Given the description of an element on the screen output the (x, y) to click on. 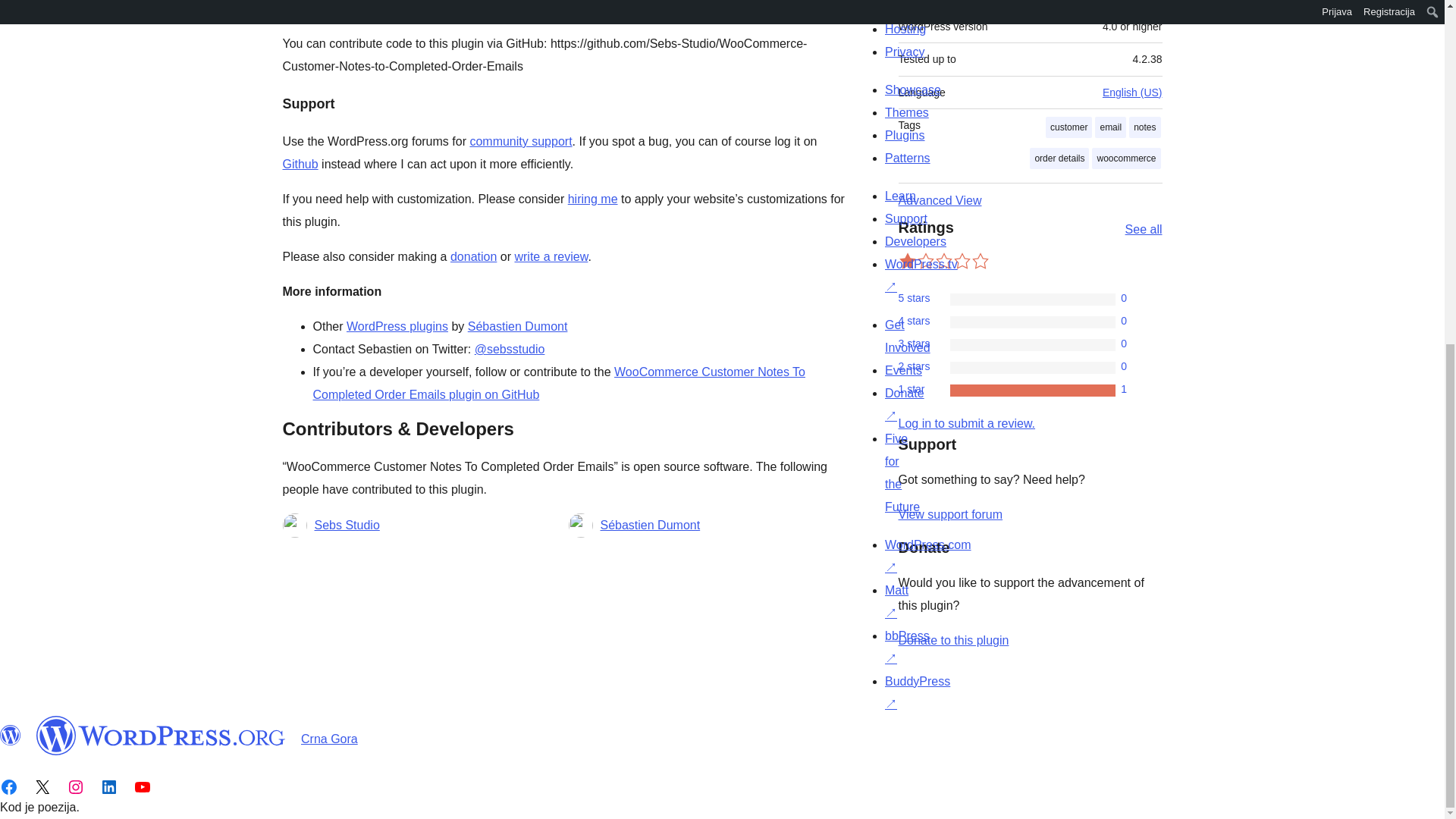
WordPress.org (10, 735)
WordPress plugins (397, 326)
donation (472, 256)
Log in to WordPress.org (966, 422)
write a review (550, 256)
hiring me (592, 198)
community support (520, 141)
WordPress.org (160, 735)
Github (299, 164)
